Given the description of an element on the screen output the (x, y) to click on. 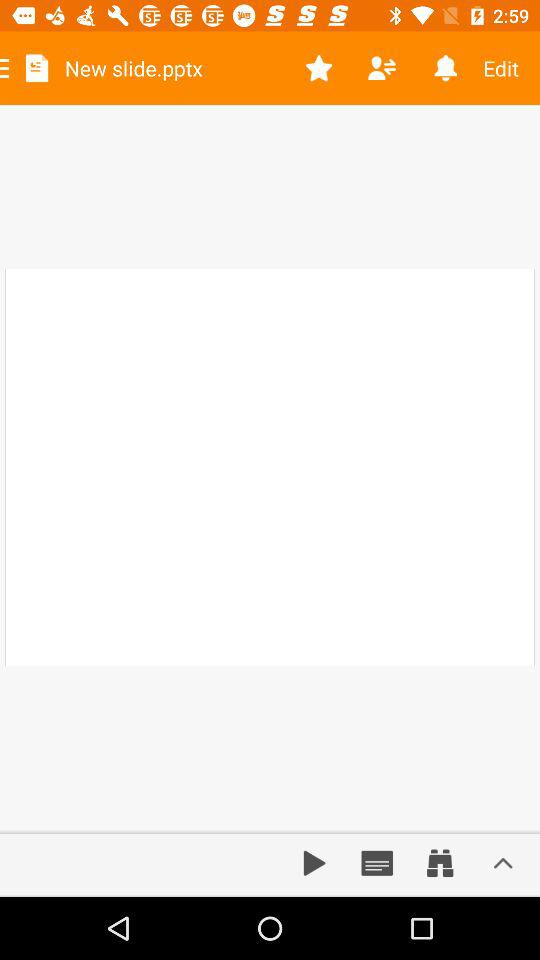
increase bar (503, 863)
